Given the description of an element on the screen output the (x, y) to click on. 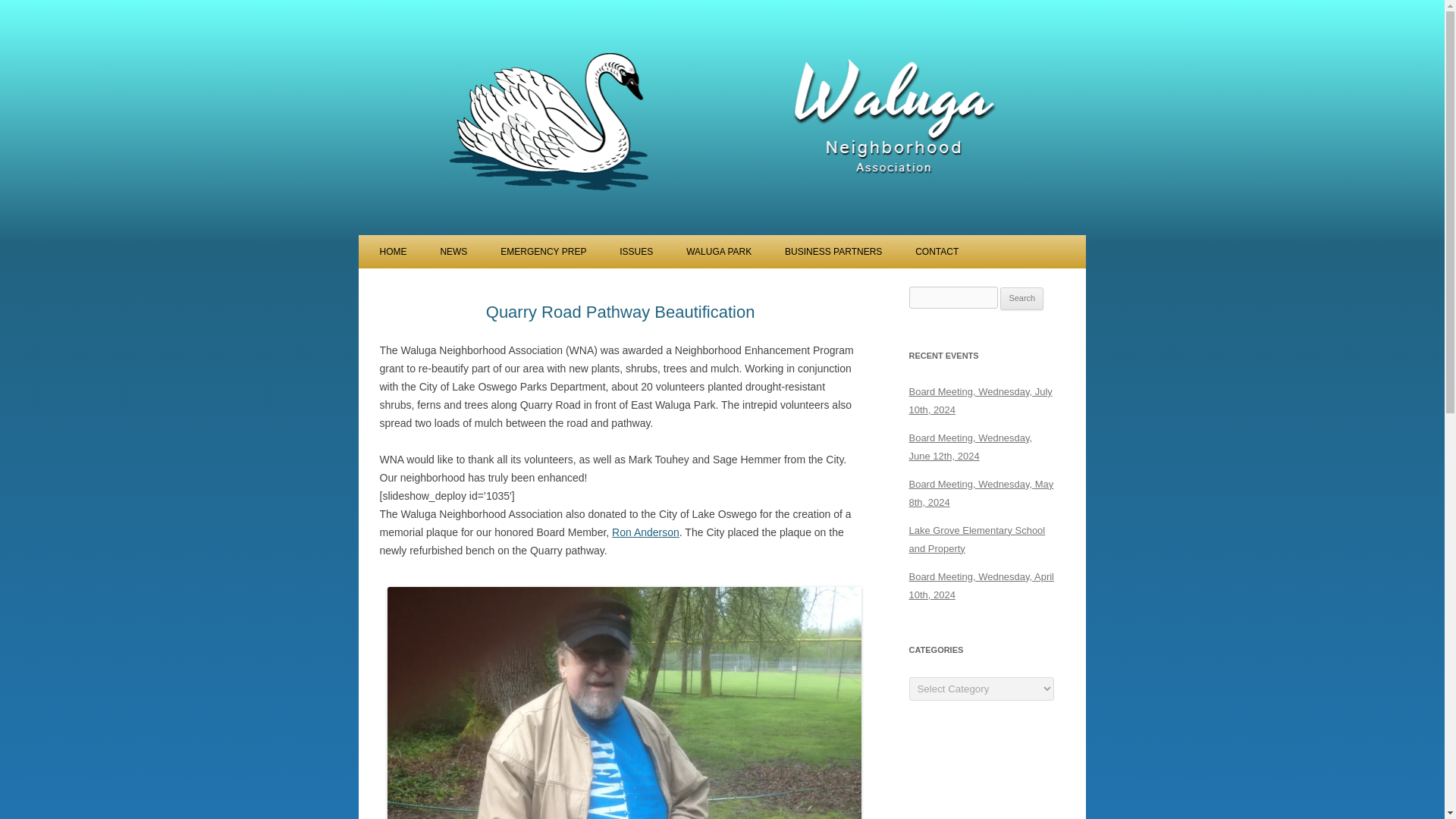
ANIMAL CARE GROUP (860, 283)
Skip to content (375, 250)
EMERGENCY PREP MEETINGS (576, 283)
Search (1021, 298)
EMERGENCY PREP (543, 251)
BOARD MEETINGS (515, 283)
ISSUES (636, 251)
Search (1021, 298)
Ron Anderson (645, 532)
WALUGA PARK (718, 251)
Waluga Neighborhood Association (521, 25)
CONTACT (936, 251)
LAND USE (695, 283)
Skip to content (375, 250)
ABOUT WNA (454, 283)
